Given the description of an element on the screen output the (x, y) to click on. 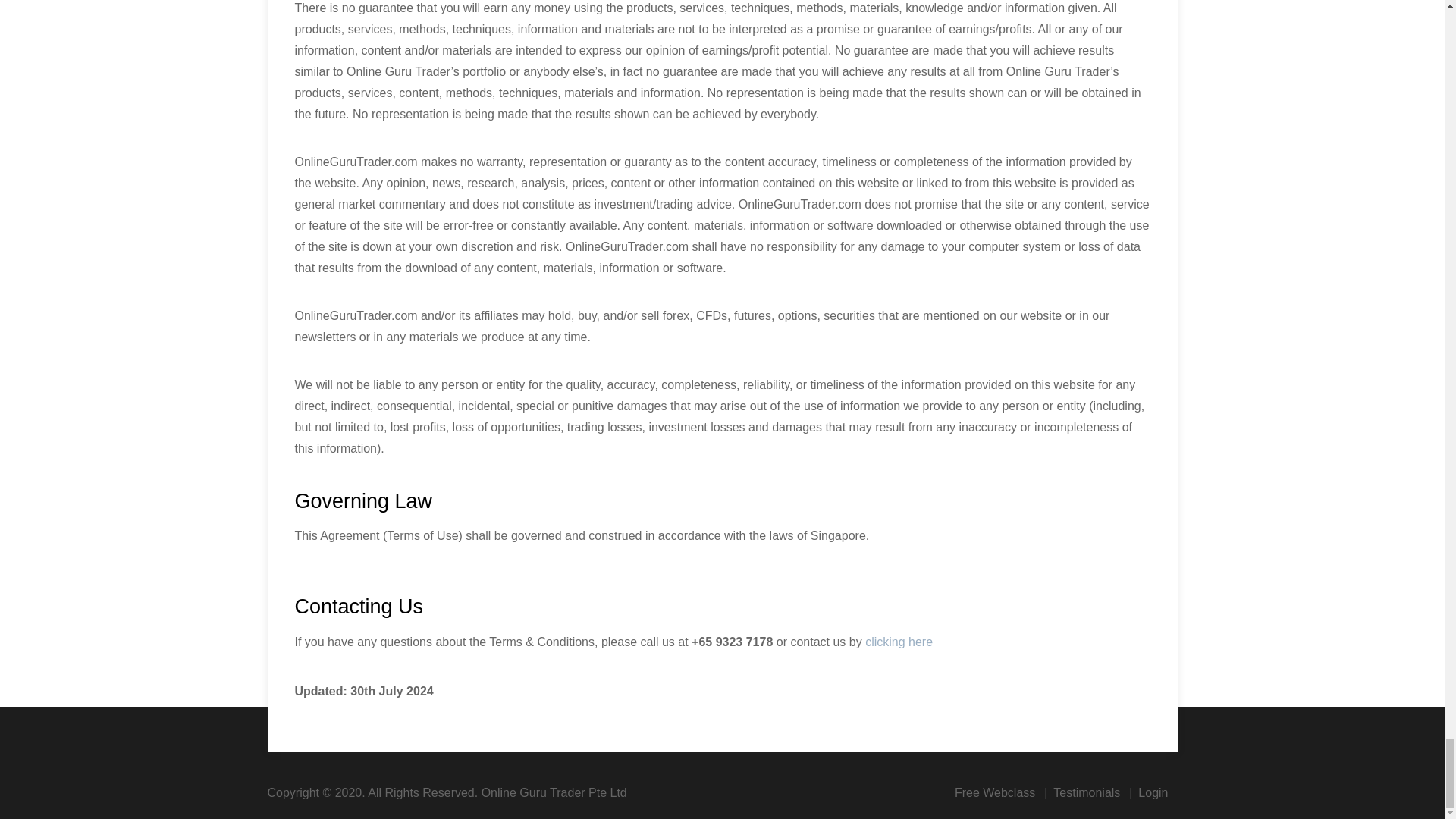
clicking here (898, 641)
Free Webclass (995, 792)
Login (1152, 792)
Testimonials (1085, 792)
